Given the description of an element on the screen output the (x, y) to click on. 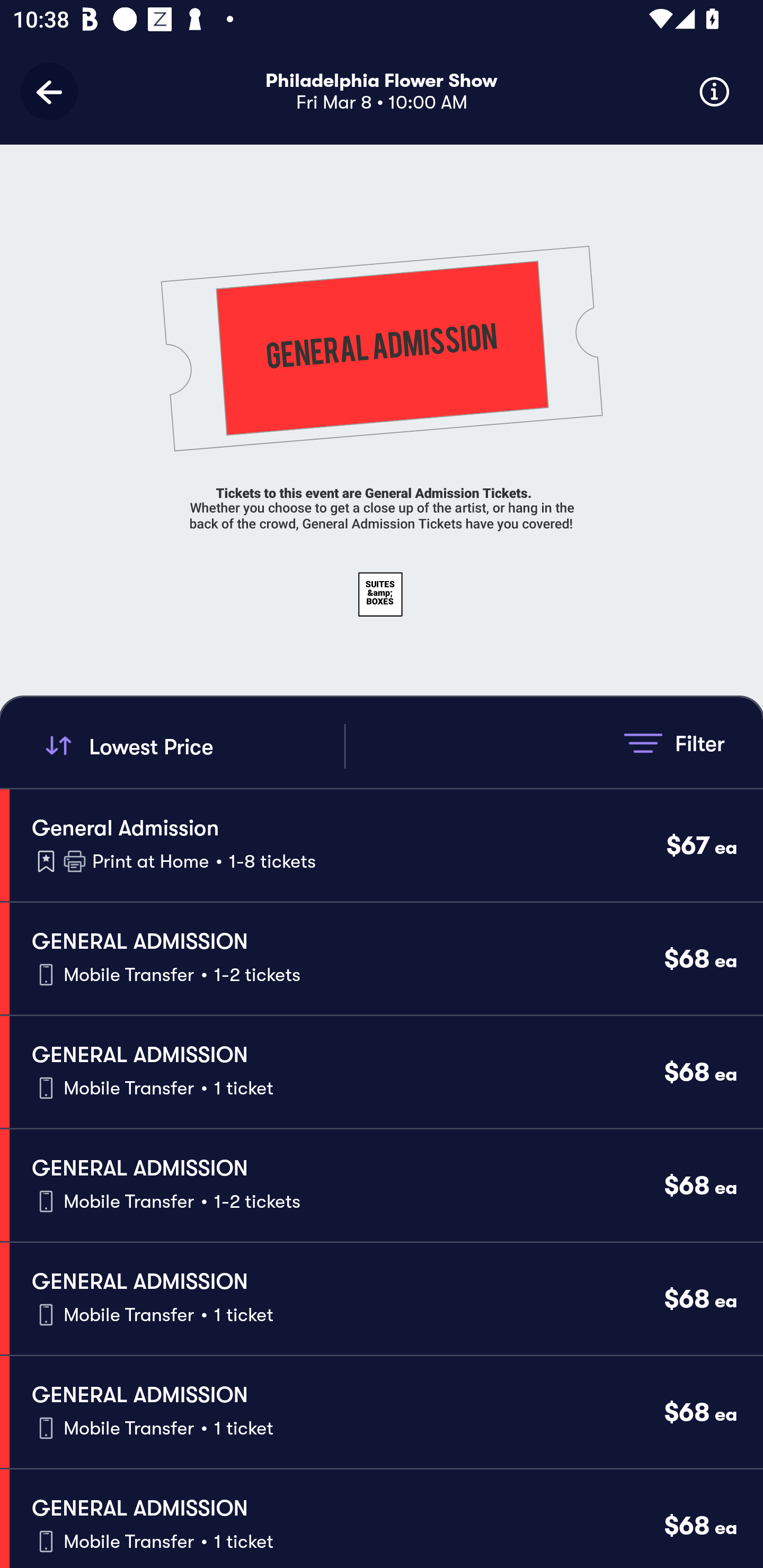
Lowest Price (191, 746)
Filter (674, 743)
